Given the description of an element on the screen output the (x, y) to click on. 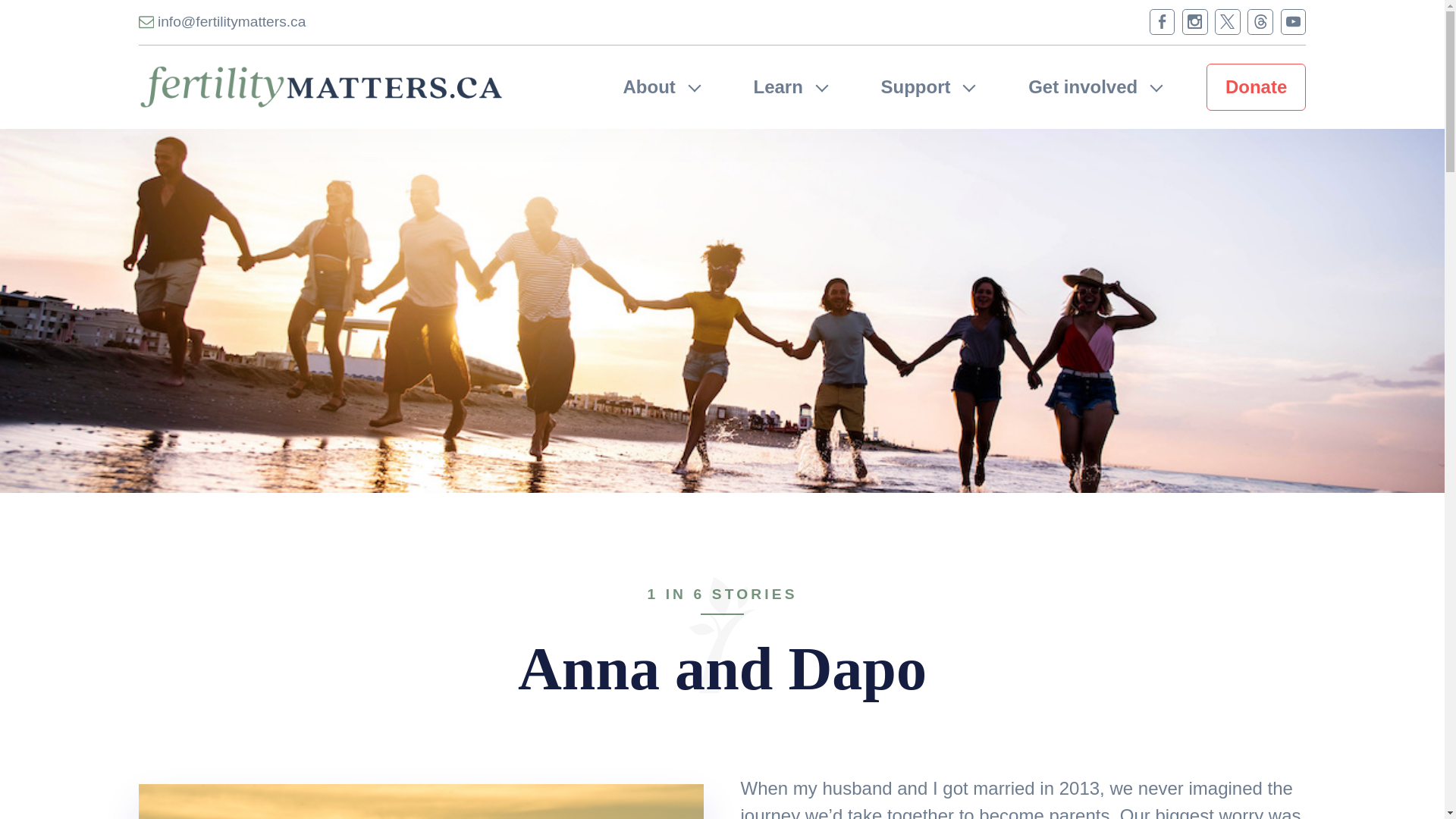
Donate (1256, 86)
